Given the description of an element on the screen output the (x, y) to click on. 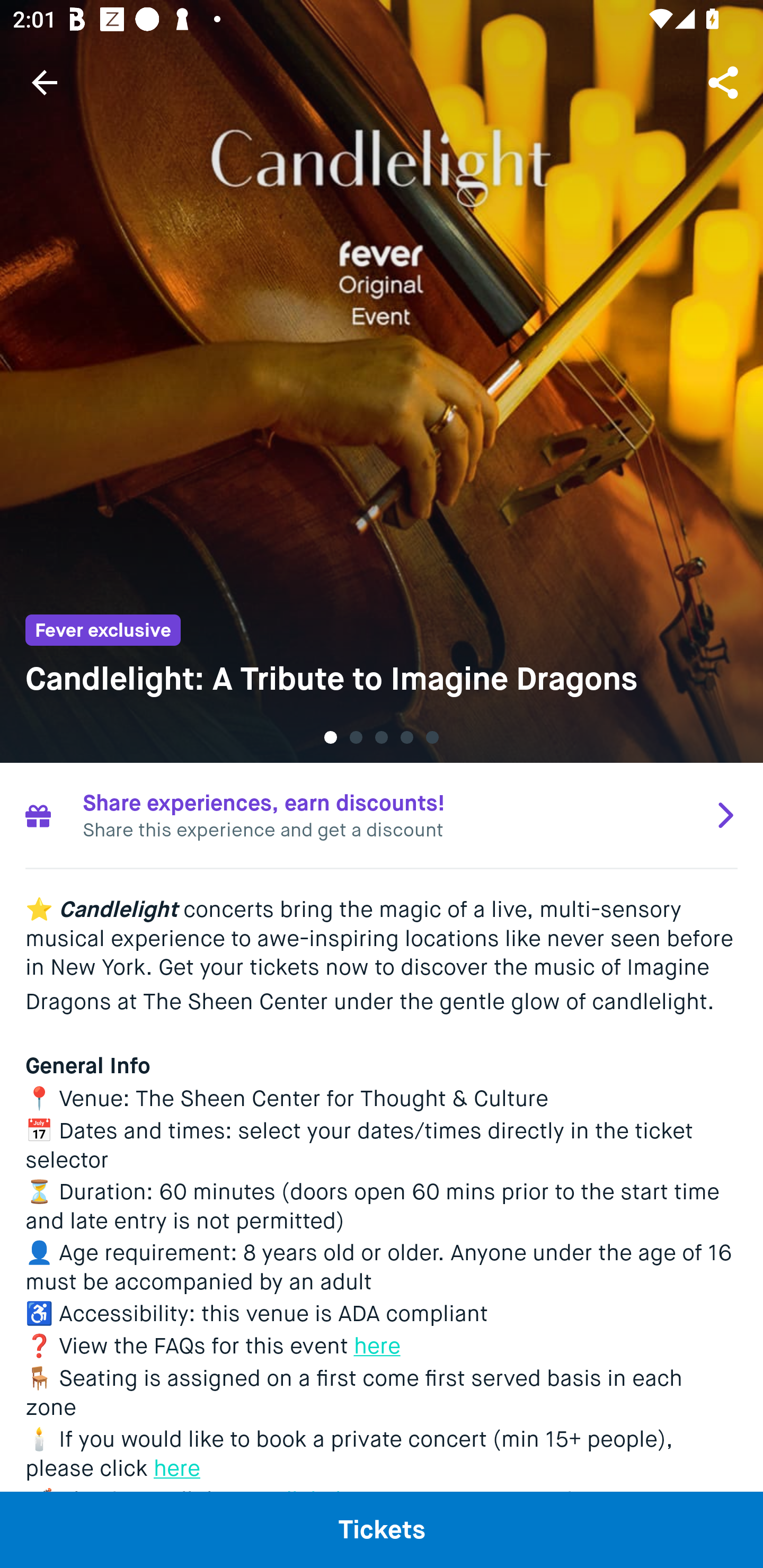
Navigate up (44, 82)
Share (724, 81)
Tickets (381, 1529)
